Given the description of an element on the screen output the (x, y) to click on. 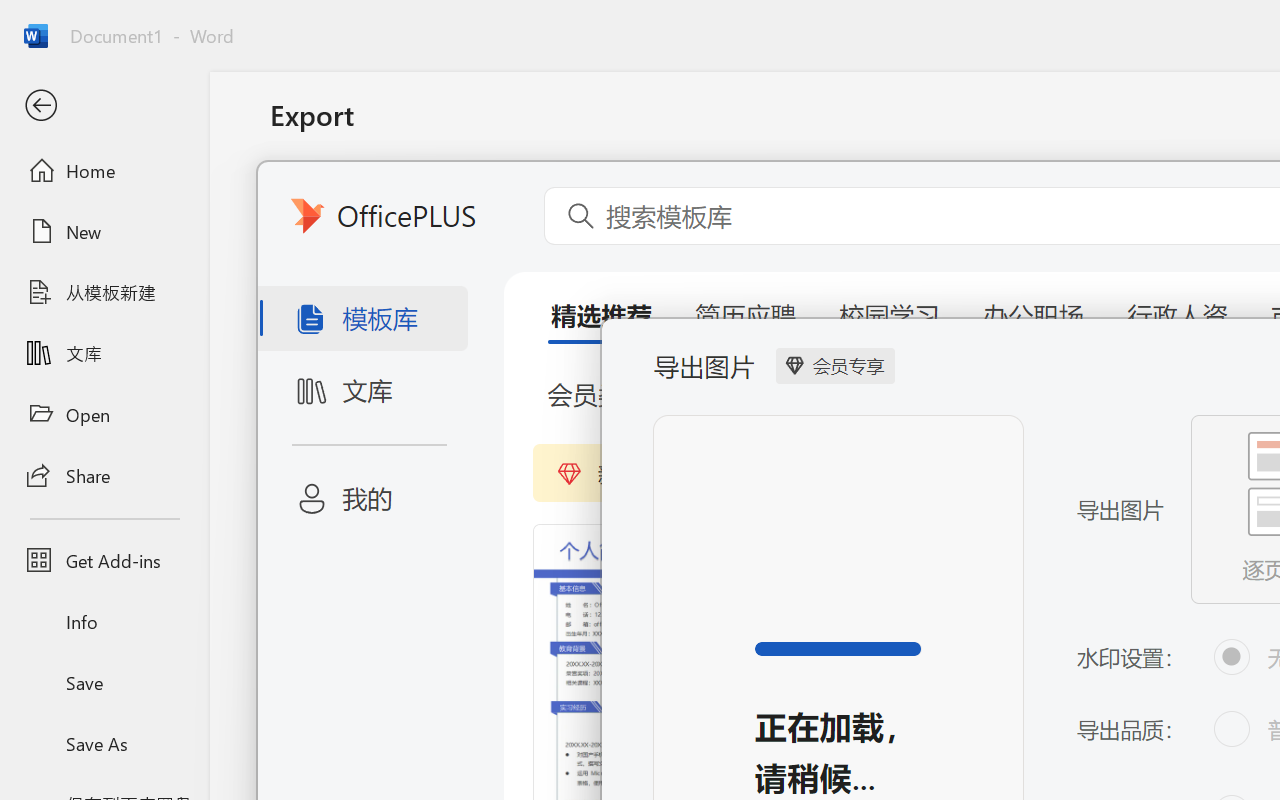
New (104, 231)
Save As (104, 743)
Back (104, 106)
Info (104, 621)
